Given the description of an element on the screen output the (x, y) to click on. 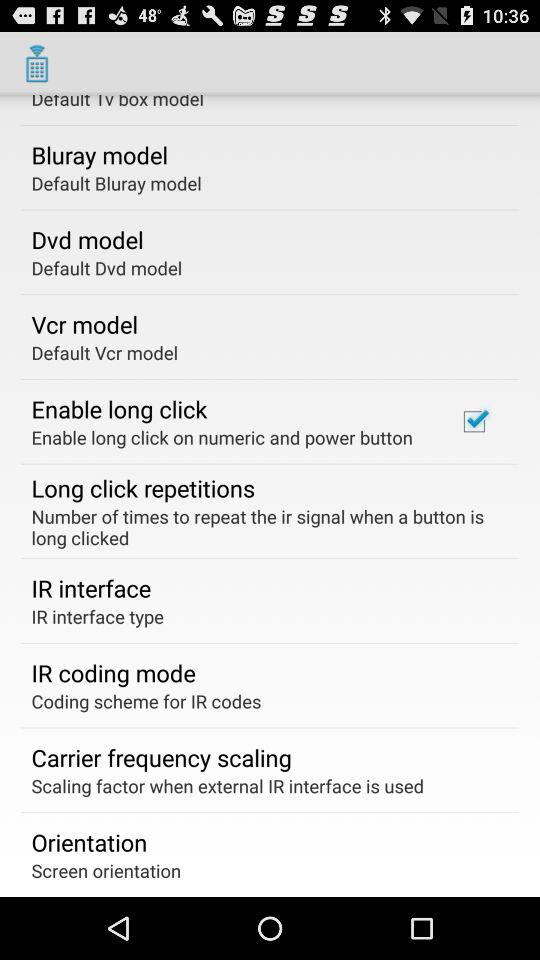
tap the scaling factor when (227, 785)
